Given the description of an element on the screen output the (x, y) to click on. 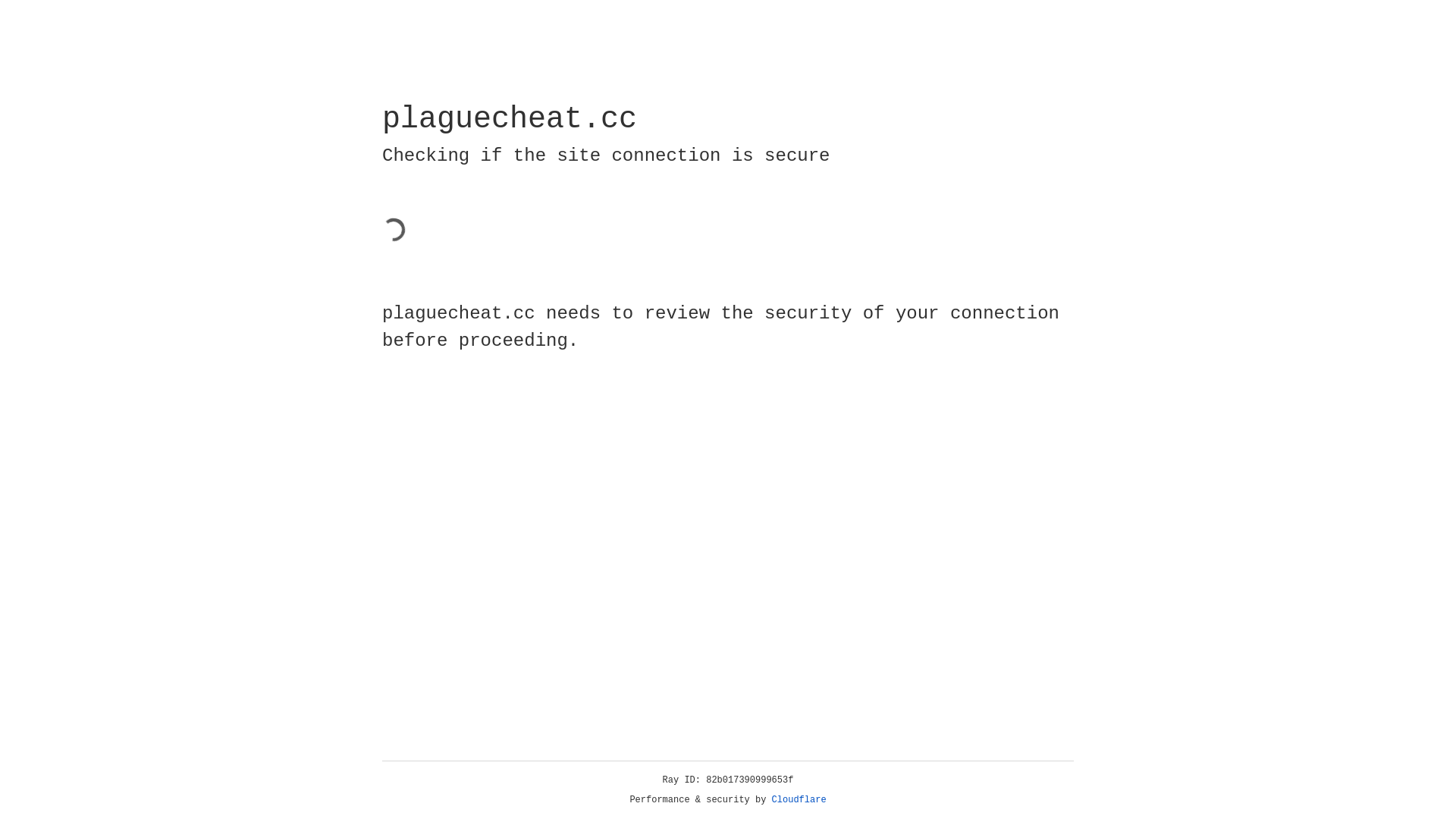
Cloudflare Element type: text (798, 799)
